Given the description of an element on the screen output the (x, y) to click on. 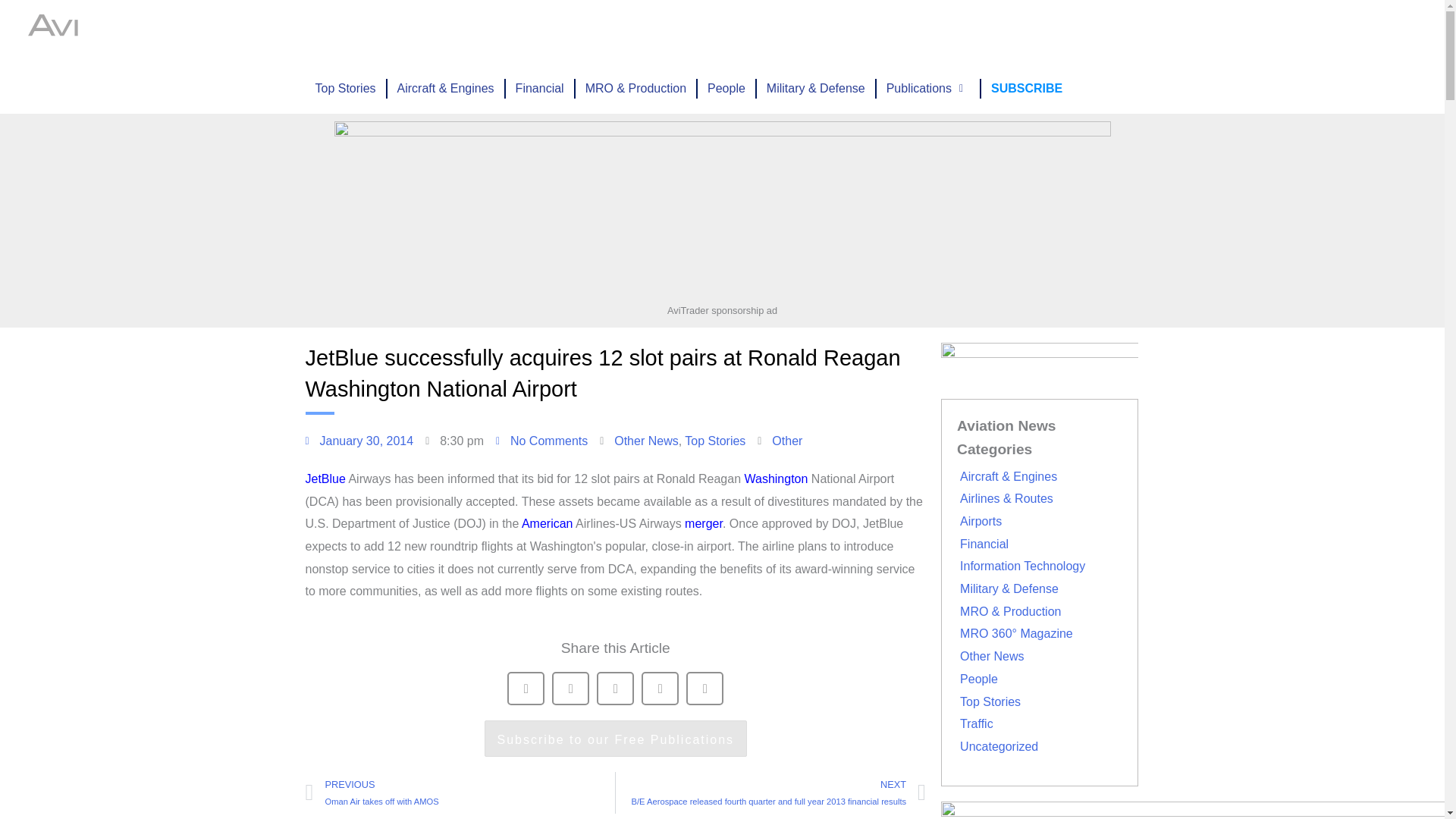
Posts tagged with American (547, 522)
Our Team (949, 31)
Posts tagged with JetBlue (324, 478)
Posts tagged with merger (703, 522)
Contact Us (1021, 31)
Advertising (681, 31)
About AviTrader (863, 31)
Posts tagged with Washington (776, 478)
Upcoming Events (583, 31)
